Given the description of an element on the screen output the (x, y) to click on. 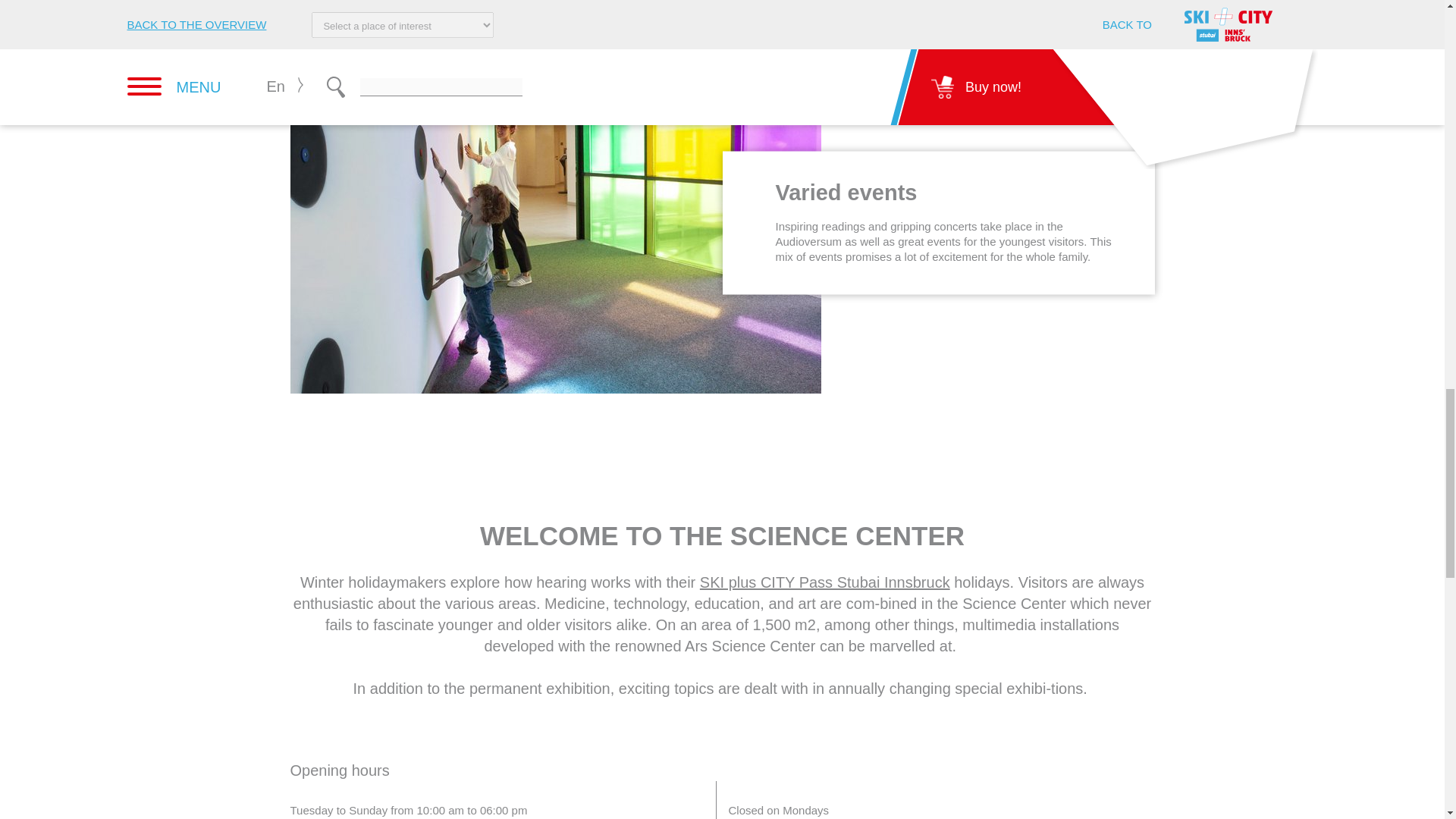
MED-EL World (888, 10)
SKI plus CITY Pass Stubai Innsbruck (825, 581)
